Given the description of an element on the screen output the (x, y) to click on. 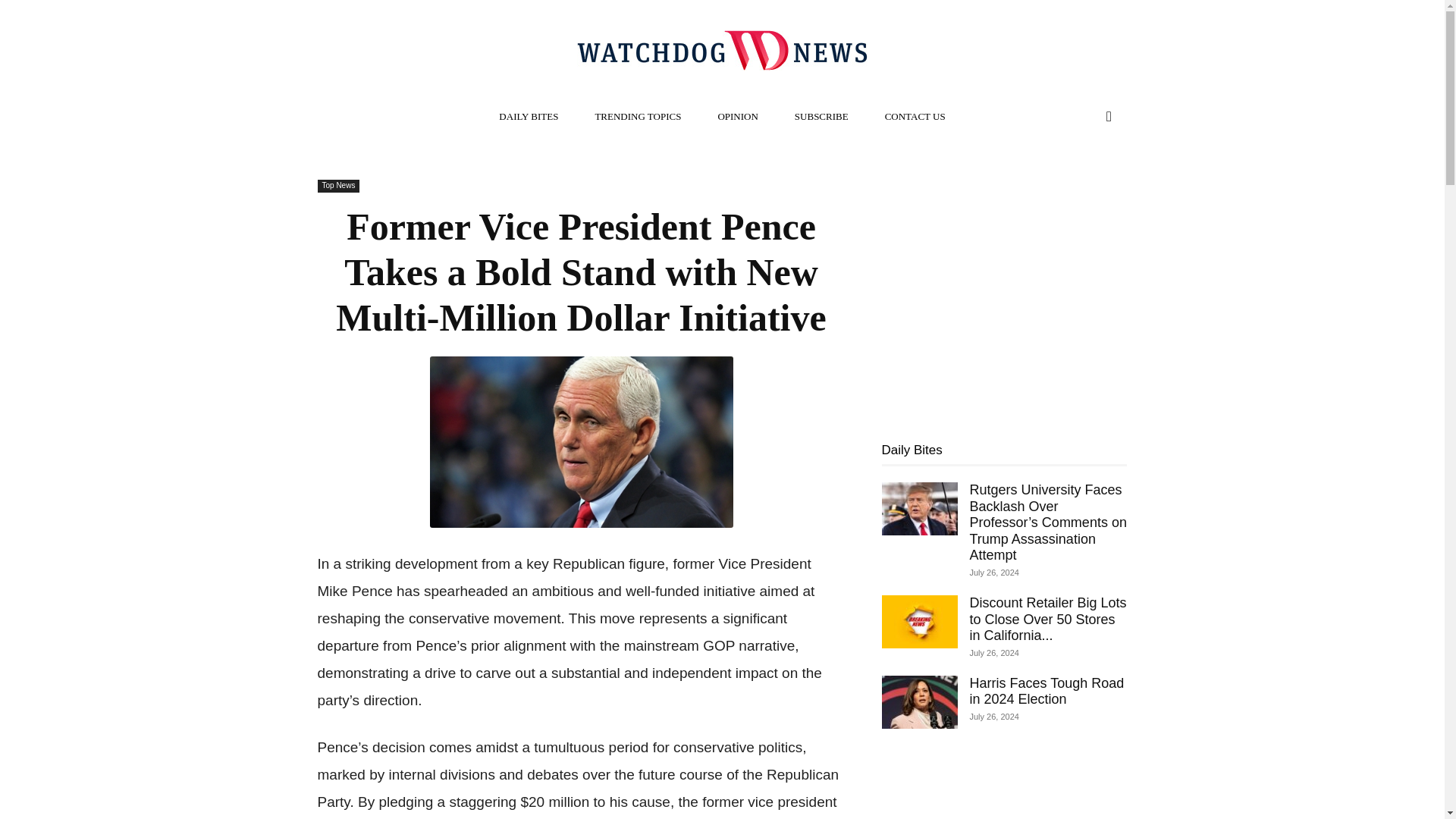
SUBSCRIBE (821, 116)
Top News (338, 185)
featured-image (580, 441)
Search (1077, 177)
OPINION (737, 116)
CONTACT US (914, 116)
DAILY BITES (528, 116)
TRENDING TOPICS (637, 116)
